Given the description of an element on the screen output the (x, y) to click on. 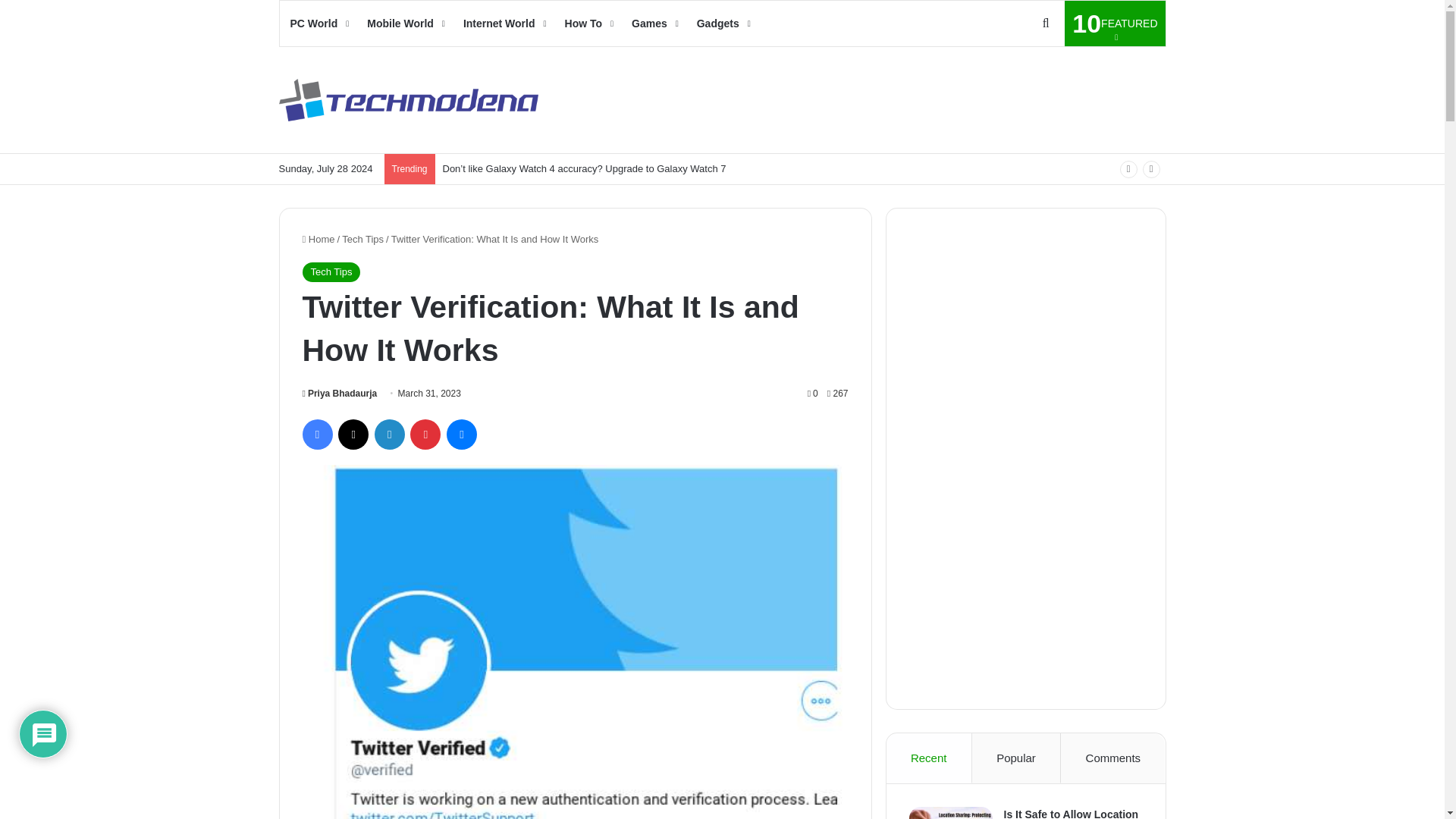
X (352, 434)
Games (653, 22)
Priya Bhadaurja (339, 393)
Internet World (503, 22)
Tech Tips (363, 238)
How To (587, 22)
TECHMODENA (408, 99)
PC World (1114, 22)
Home (317, 22)
Gadgets (317, 238)
Priya Bhadaurja (721, 22)
Mobile World (339, 393)
Facebook (404, 22)
Tech Tips (316, 434)
